Given the description of an element on the screen output the (x, y) to click on. 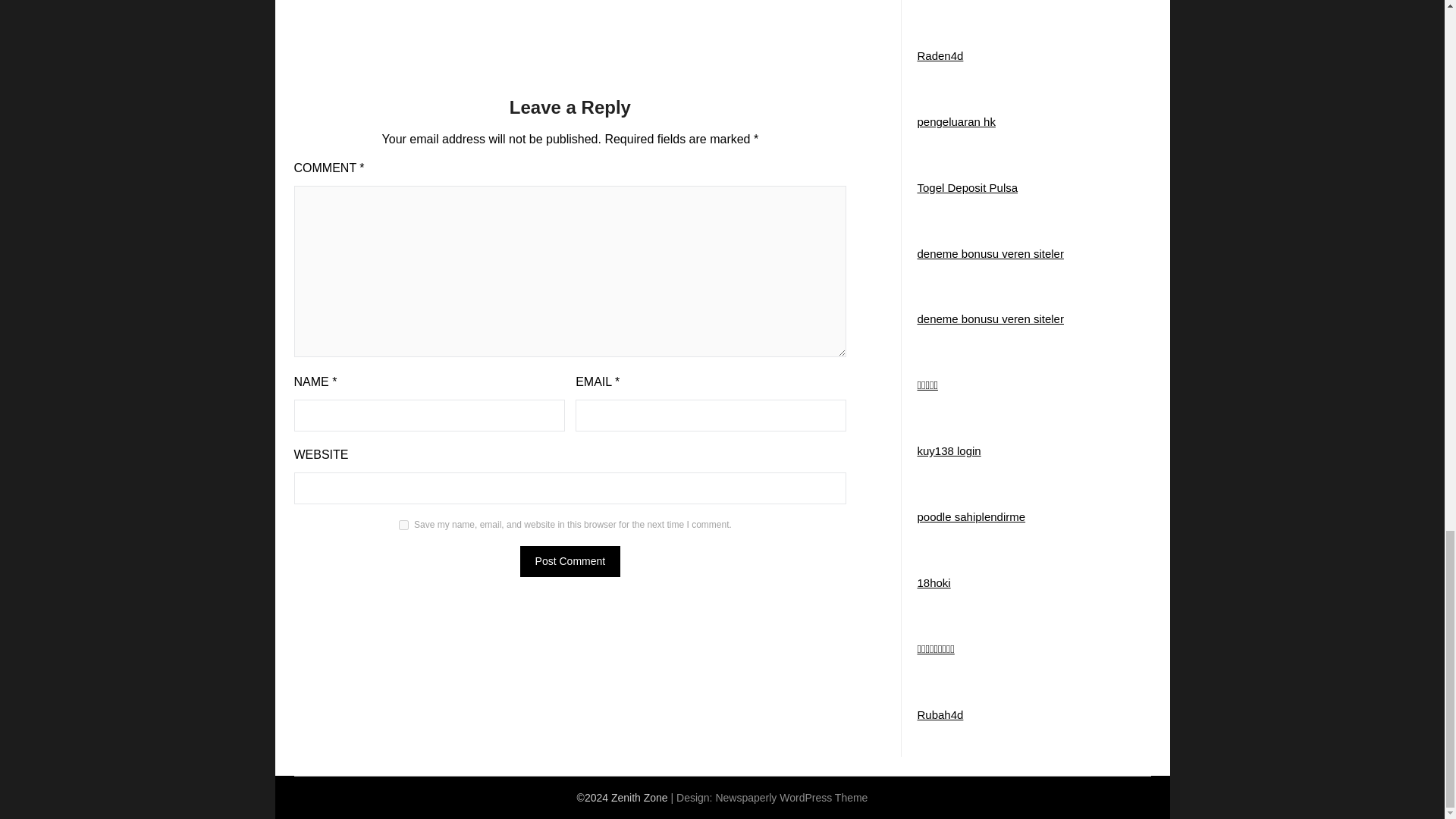
yes (403, 524)
Post Comment (570, 561)
Post Comment (570, 561)
